Given the description of an element on the screen output the (x, y) to click on. 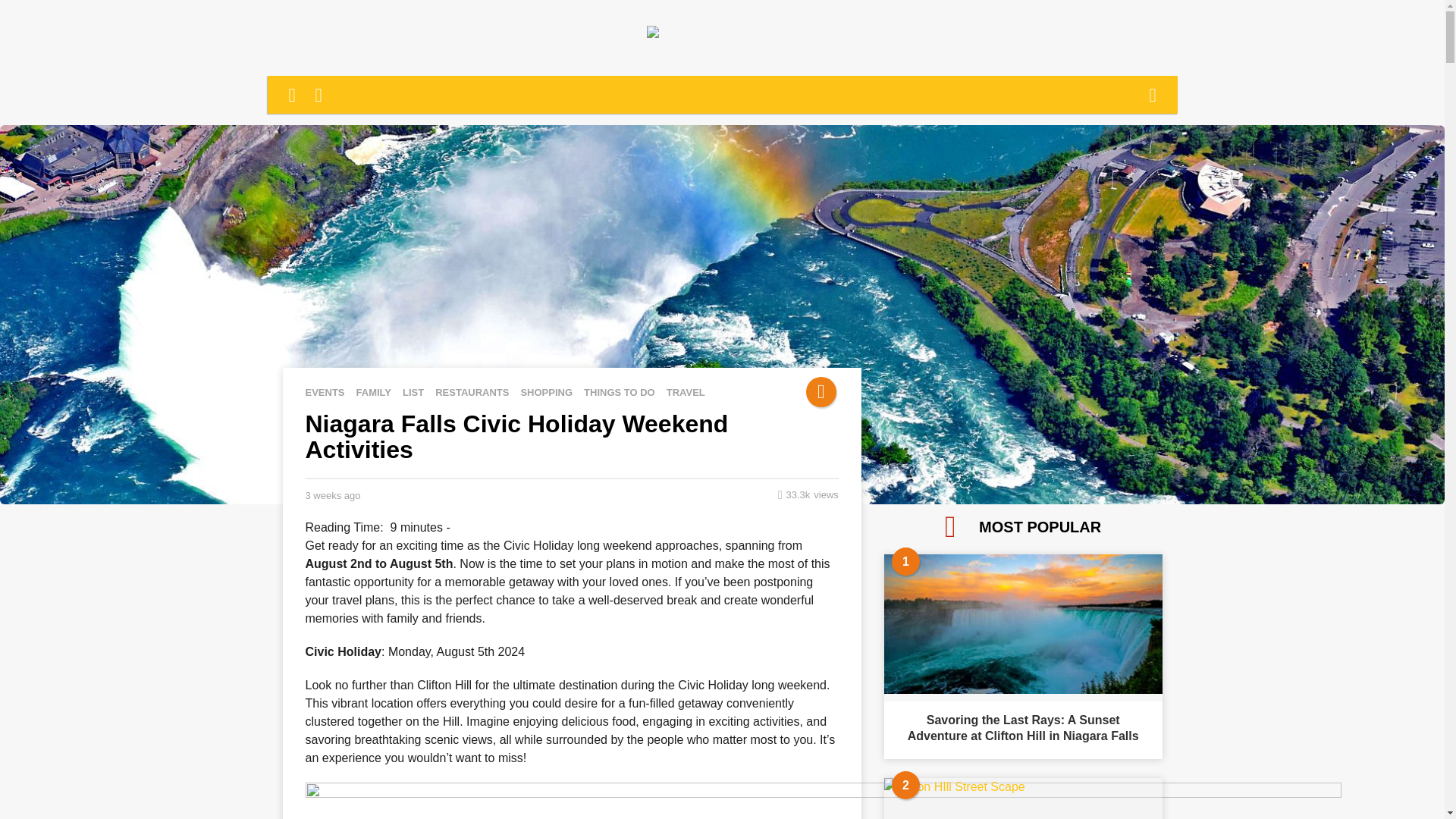
Trending (820, 391)
